Given the description of an element on the screen output the (x, y) to click on. 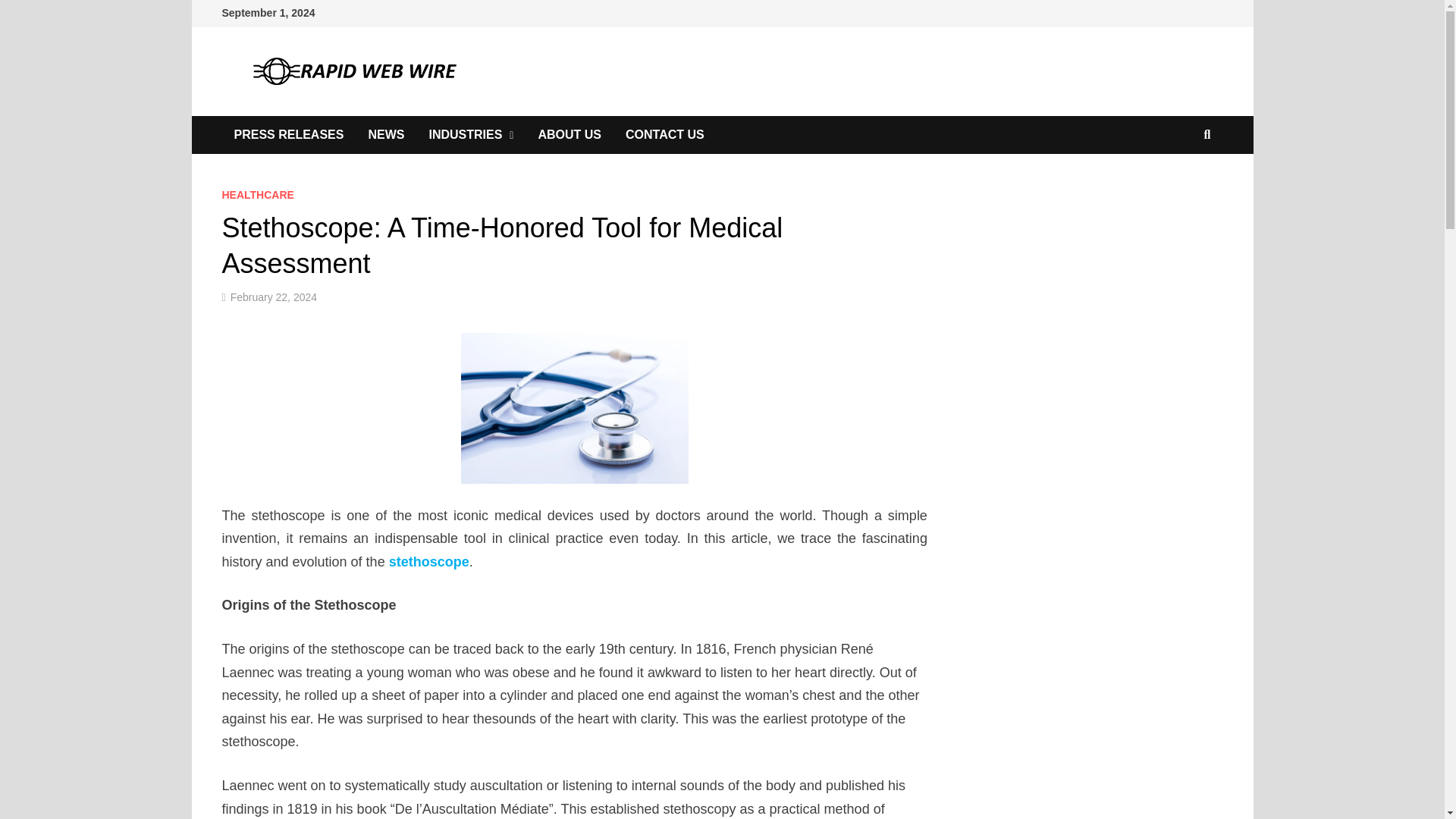
INDUSTRIES (470, 134)
PRESS RELEASES (288, 134)
ABOUT US (568, 134)
NEWS (385, 134)
CONTACT US (664, 134)
